Given the description of an element on the screen output the (x, y) to click on. 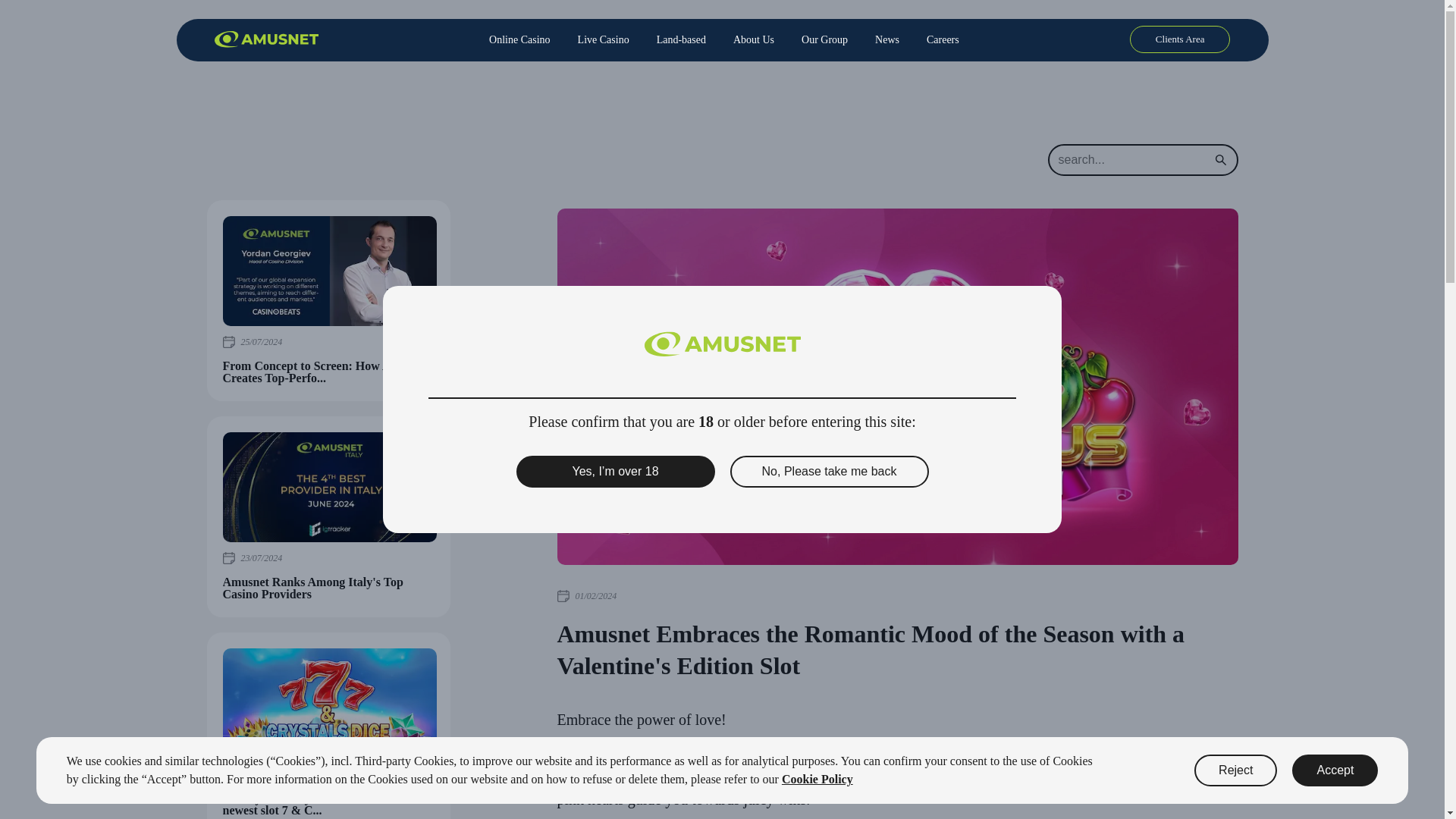
Careers (935, 39)
News (886, 39)
Amusnet Logo (722, 344)
Live Casino (603, 39)
Land-based (681, 39)
Clients Area (1179, 39)
About Us (753, 39)
Our Group (824, 39)
Online Casino (526, 39)
Amusnet Ranks Among Italy's Top Casino Providers (329, 487)
